Given the description of an element on the screen output the (x, y) to click on. 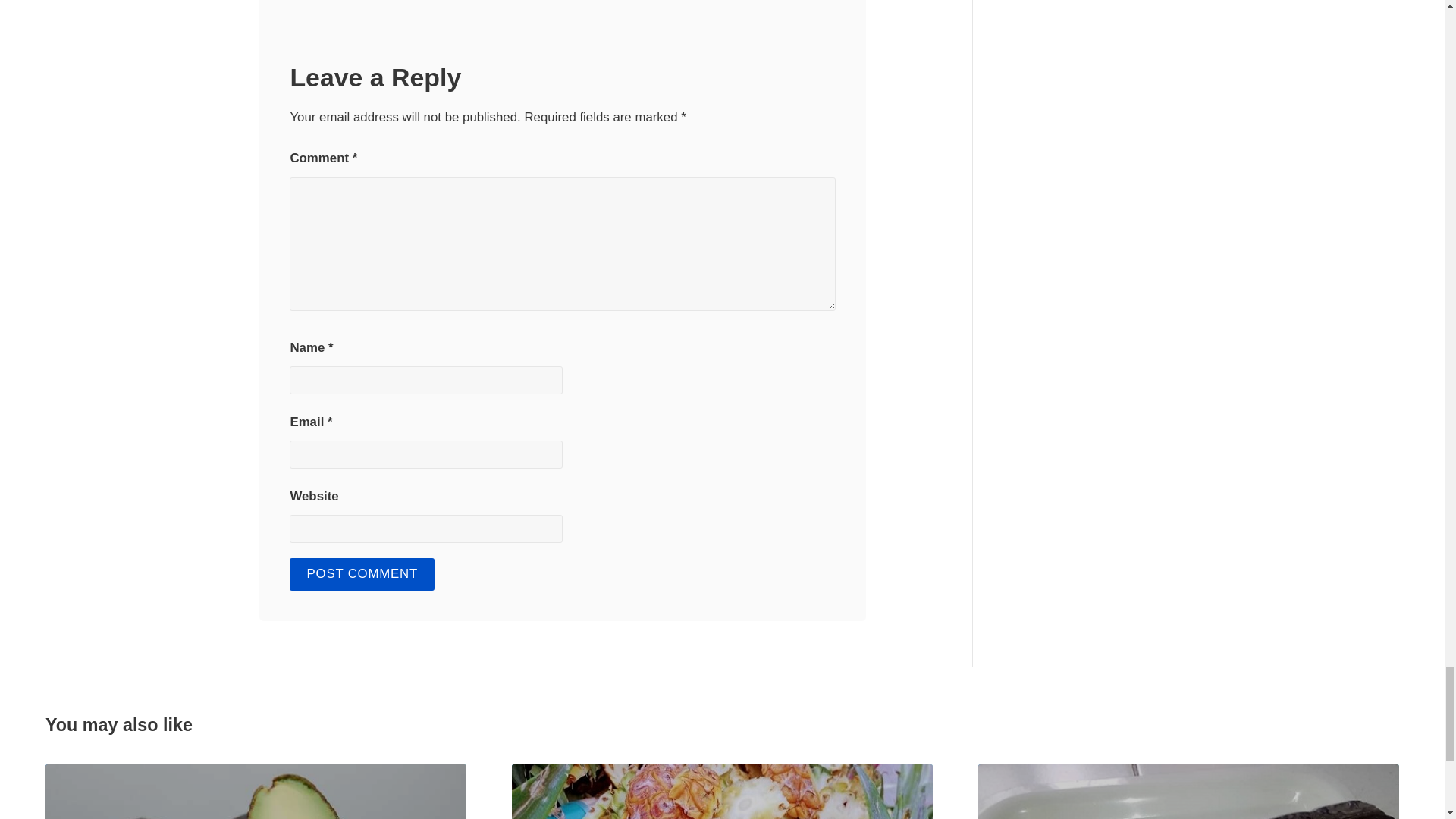
Post Comment (361, 573)
Post Comment (361, 573)
